Given the description of an element on the screen output the (x, y) to click on. 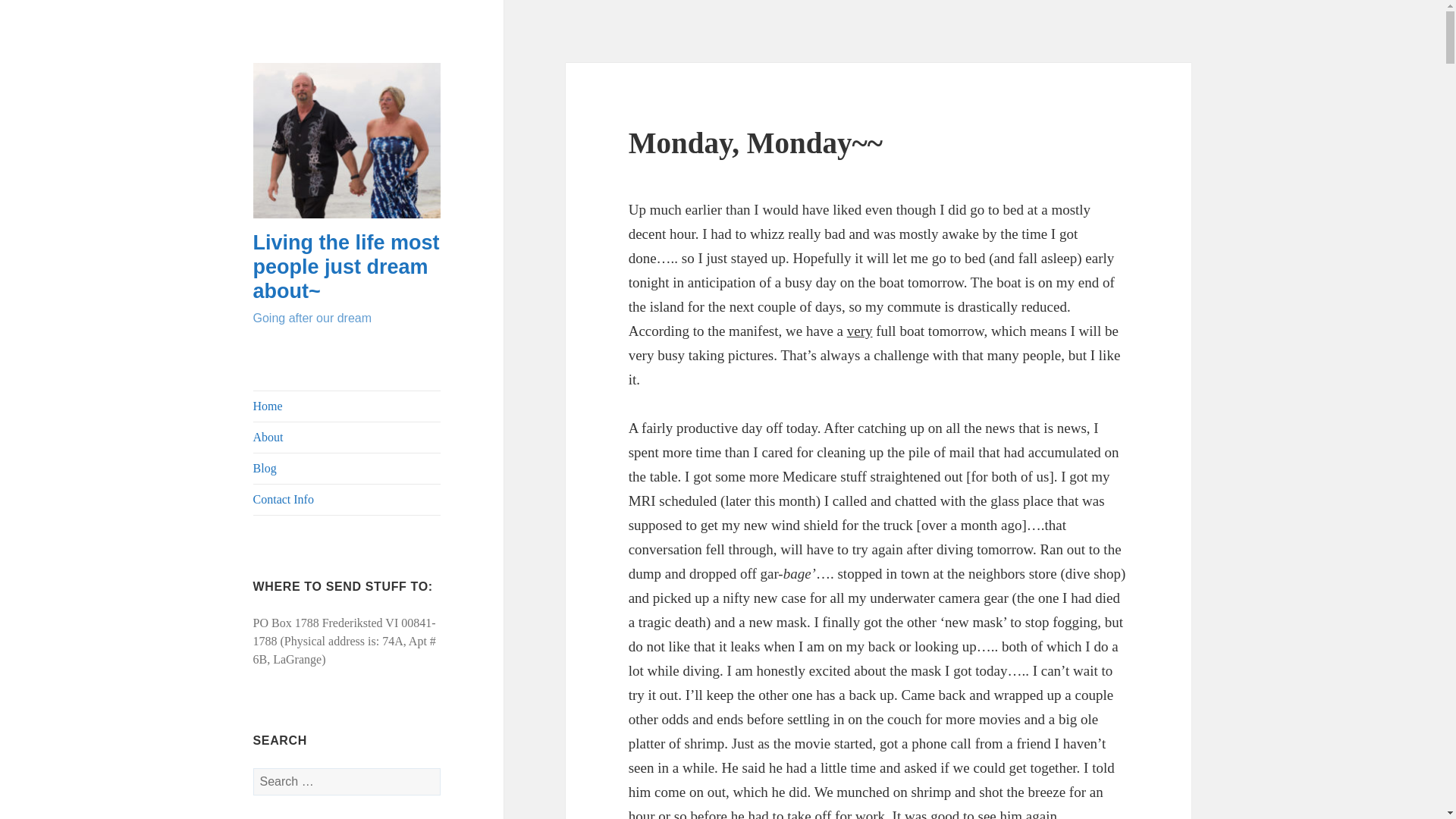
Contact Info (347, 499)
Blog (347, 468)
Home (347, 406)
About (347, 437)
